Given the description of an element on the screen output the (x, y) to click on. 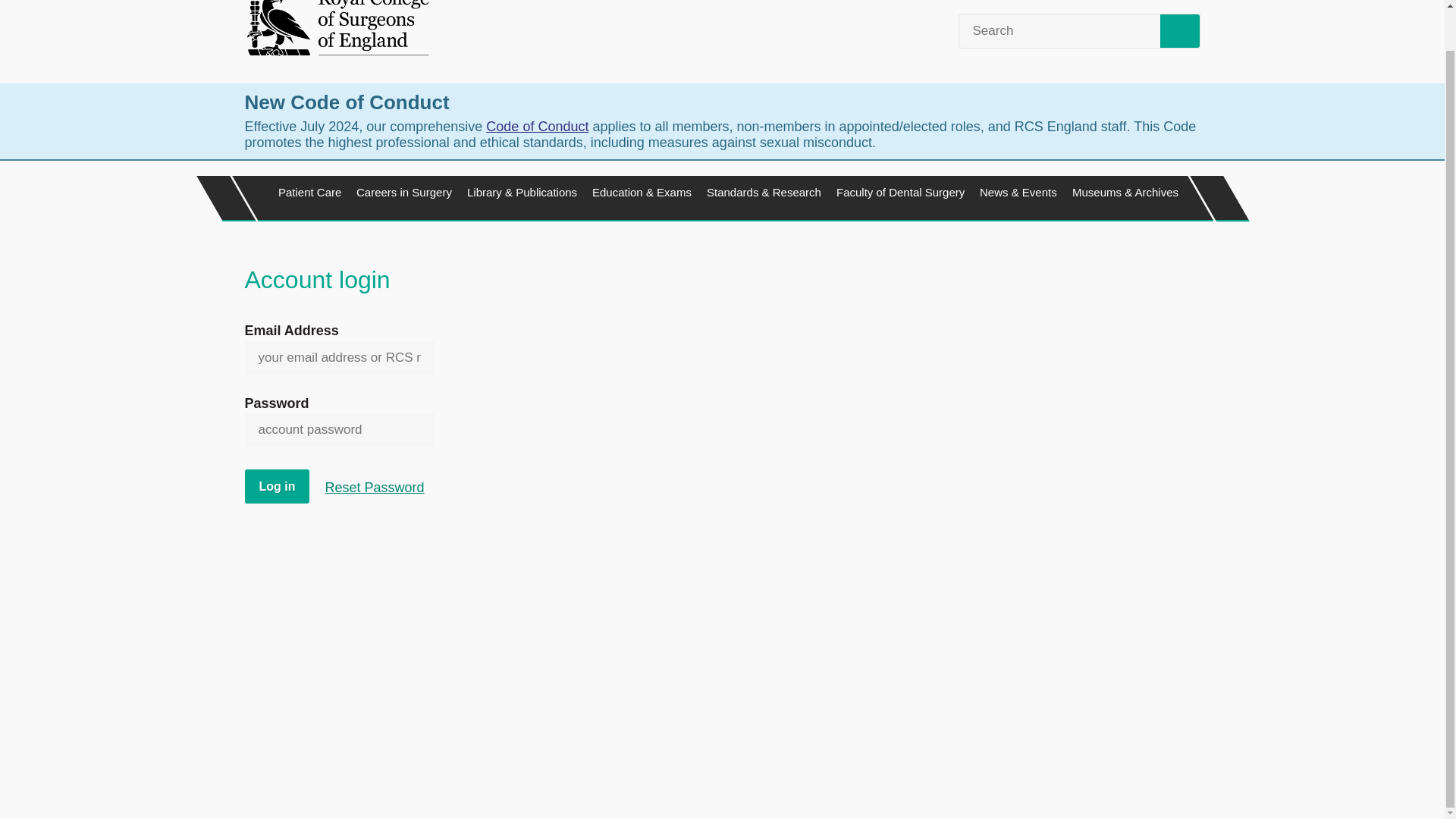
Log in (276, 486)
